Given the description of an element on the screen output the (x, y) to click on. 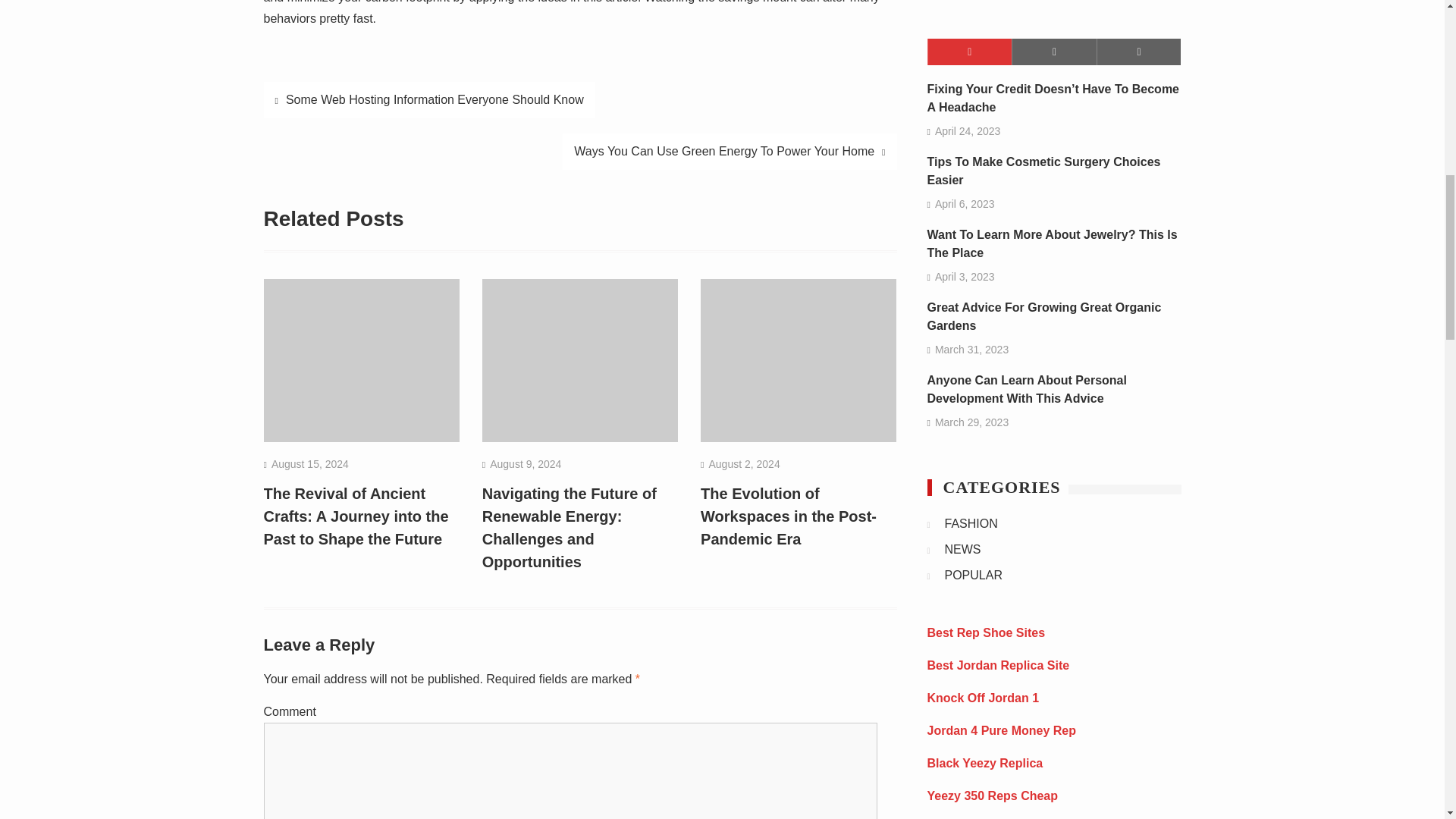
Ways You Can Use Green Energy To Power Your Home (729, 151)
The Evolution of Workspaces in the Post-Pandemic Era (788, 516)
Some Web Hosting Information Everyone Should Know (429, 99)
